Given the description of an element on the screen output the (x, y) to click on. 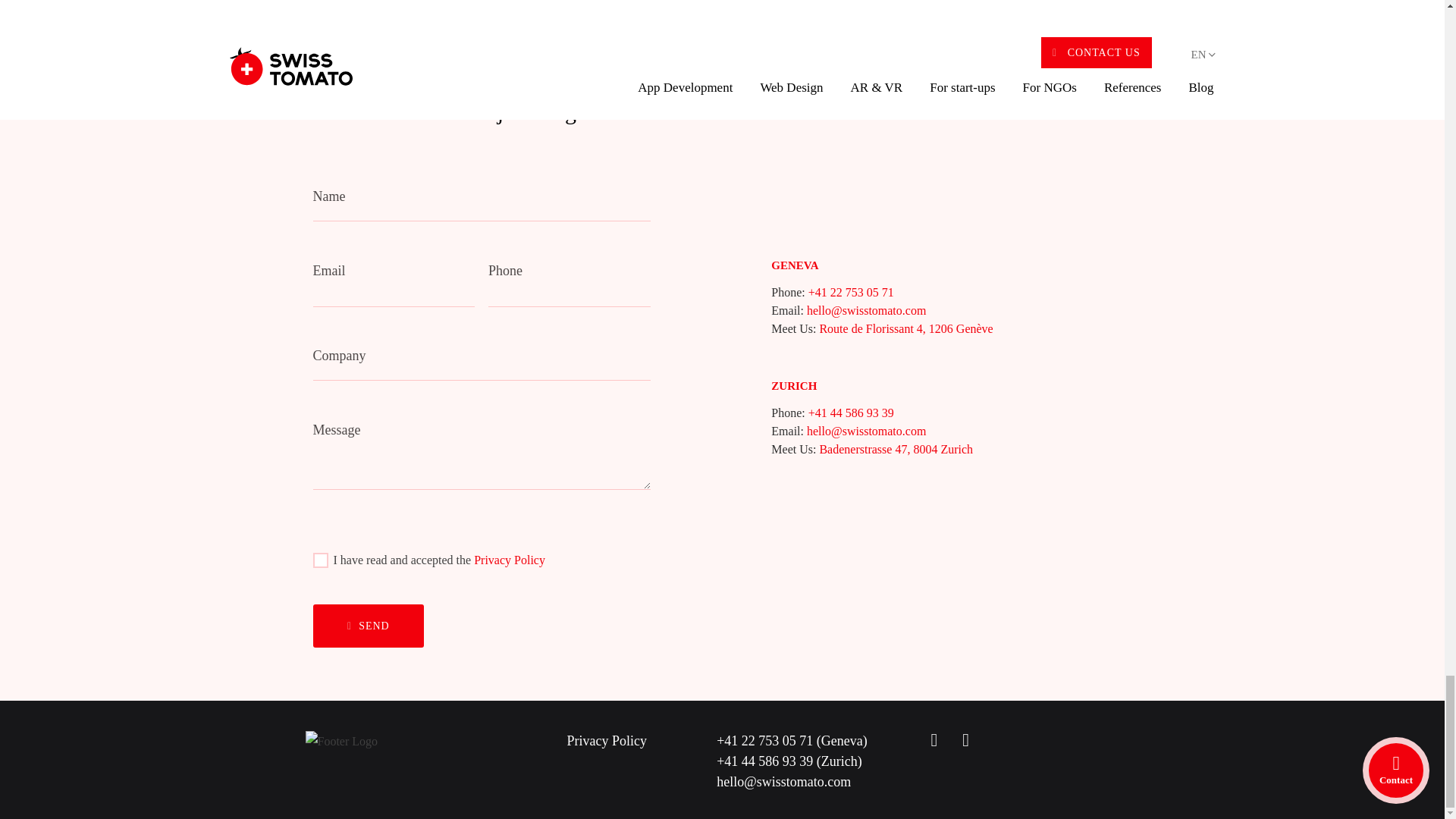
Privacy Policy (509, 559)
